Given the description of an element on the screen output the (x, y) to click on. 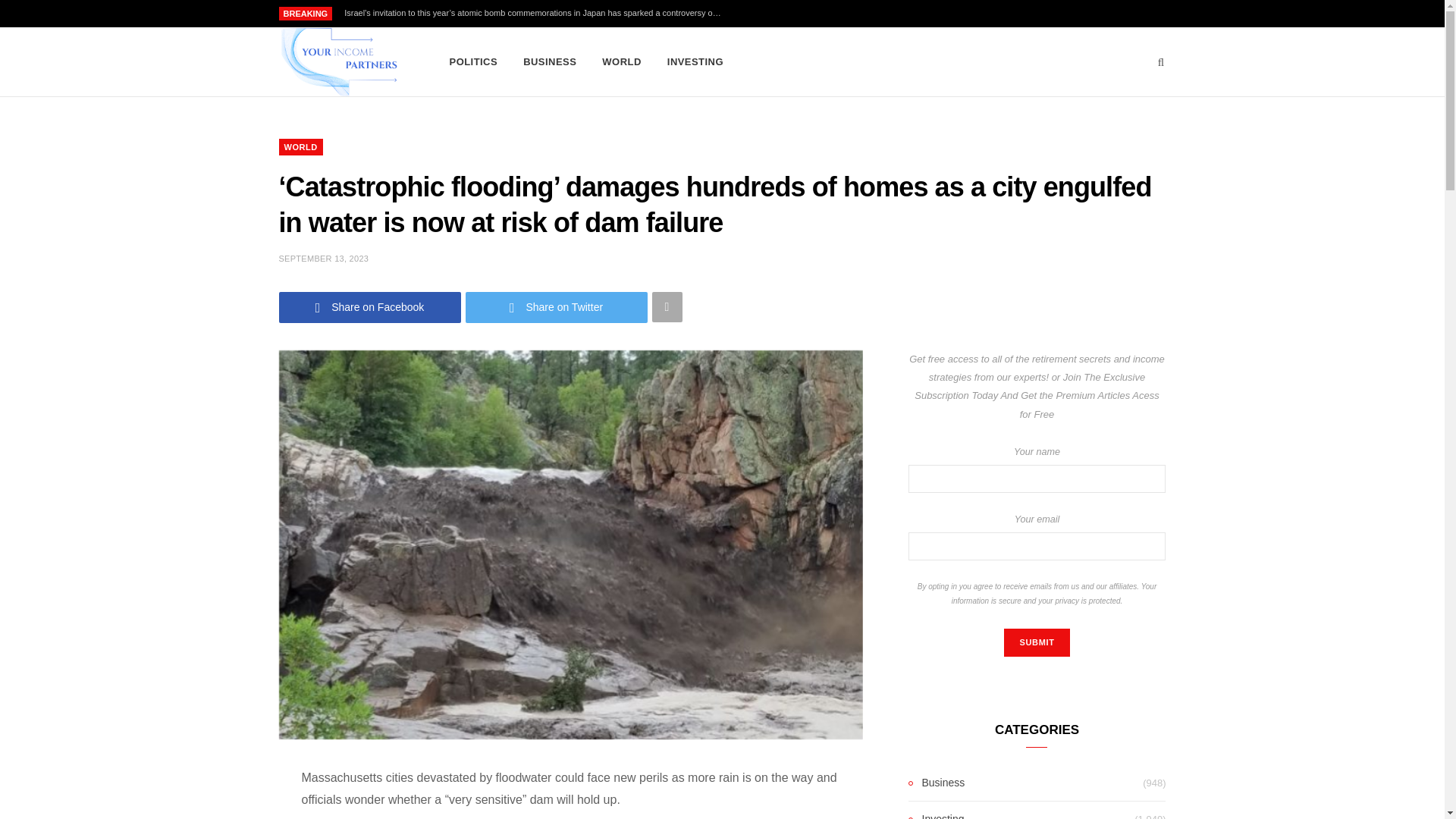
POLITICS (473, 61)
Share on Twitter (556, 306)
Submit (1036, 642)
WORLD (621, 61)
BUSINESS (550, 61)
Your Income Partners (339, 61)
SEPTEMBER 13, 2023 (324, 257)
Share on Facebook (370, 306)
WORLD (301, 146)
Share on Twitter (556, 306)
INVESTING (695, 61)
Share on Facebook (370, 306)
